Given the description of an element on the screen output the (x, y) to click on. 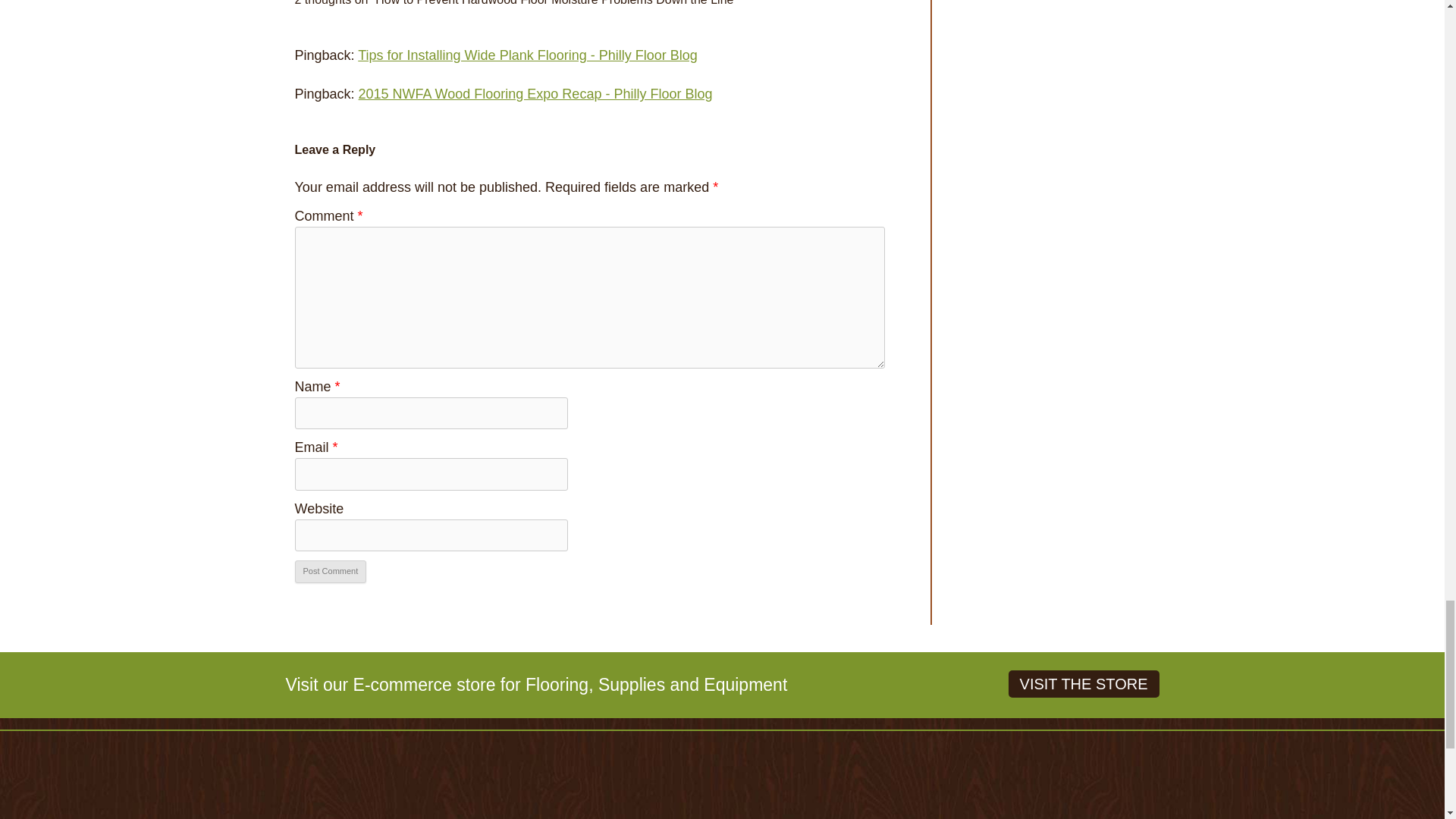
Tips for Installing Wide Plank Flooring - Philly Floor Blog (527, 55)
Post Comment (330, 571)
2015 NWFA Wood Flooring Expo Recap - Philly Floor Blog (535, 93)
Post Comment (330, 571)
